Given the description of an element on the screen output the (x, y) to click on. 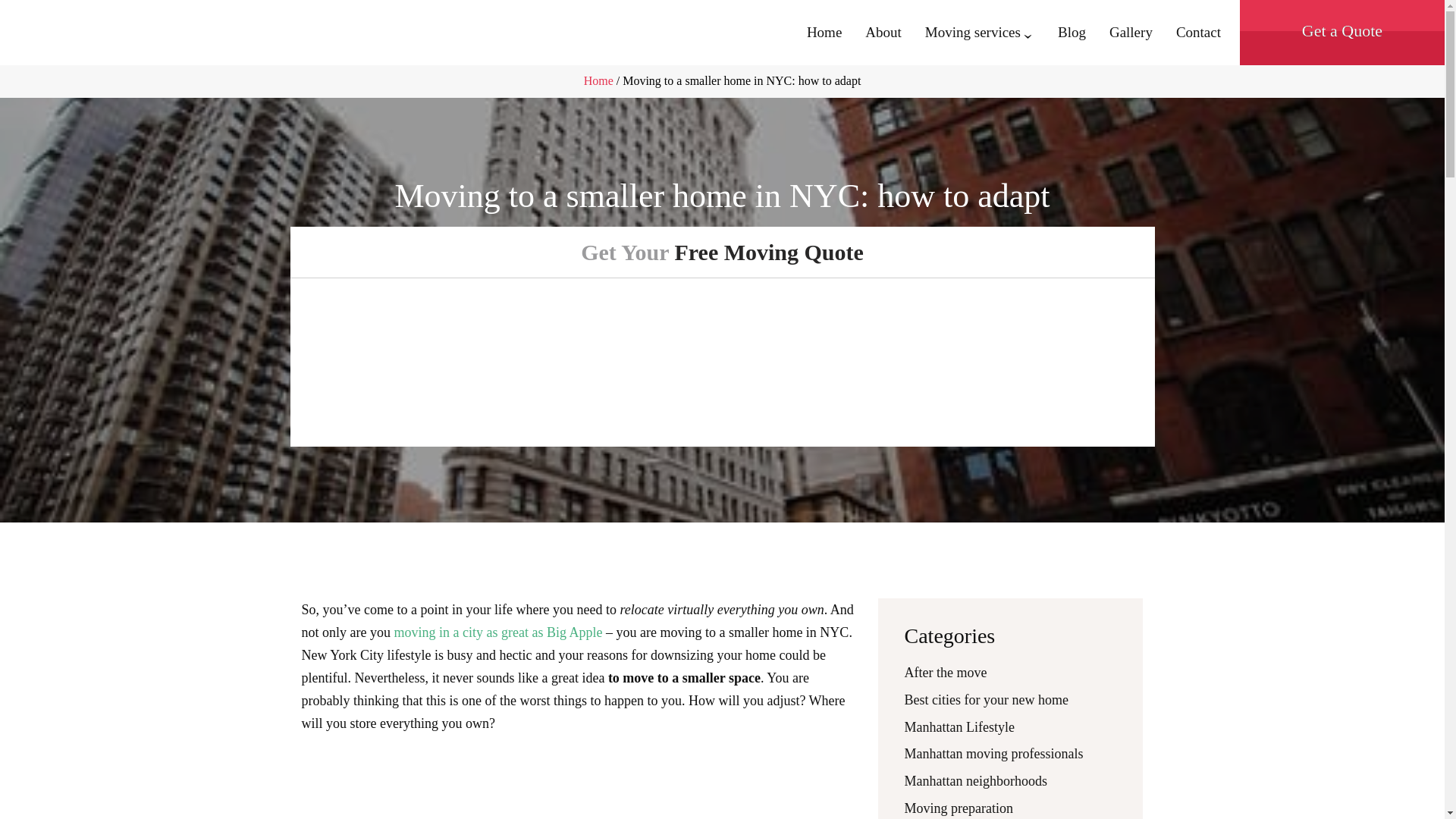
Contact (1198, 32)
Manhattan neighborhoods (975, 780)
About (882, 32)
Send (1026, 395)
moving in a city as great as Big Apple (497, 631)
Manhattan Lifestyle (958, 726)
Moving services (972, 32)
Blog (1072, 32)
After the move (945, 672)
Home (823, 32)
Best cities for your new home (985, 699)
Gallery (1131, 32)
Home (597, 80)
Moving preparation (957, 807)
Manhattan moving professionals (993, 753)
